Given the description of an element on the screen output the (x, y) to click on. 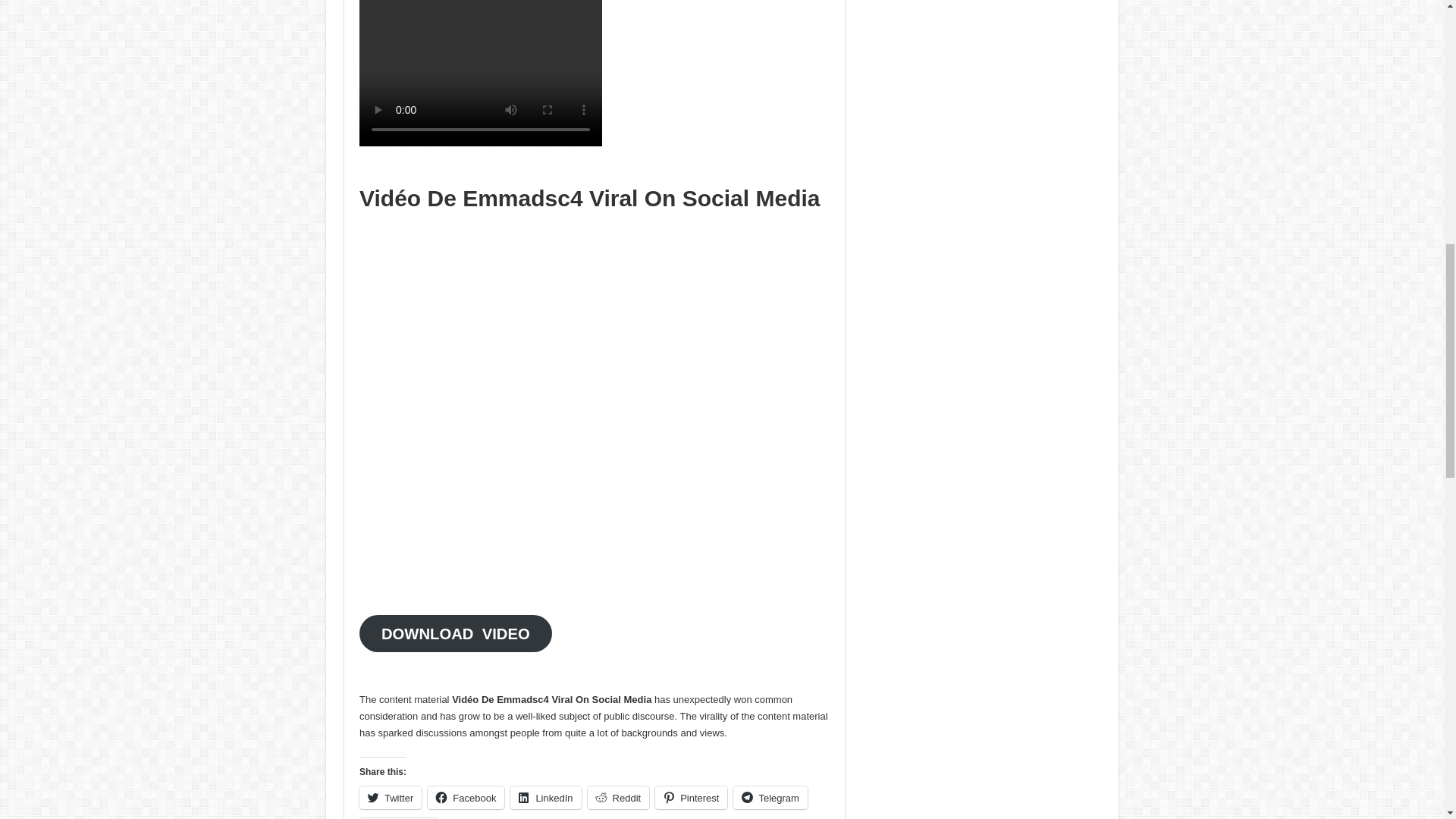
Reddit (618, 797)
LinkedIn (545, 797)
DOWNLOAD  VIDEO (455, 633)
Pinterest (690, 797)
Telegram (769, 797)
Twitter (390, 797)
Facebook (465, 797)
